Given the description of an element on the screen output the (x, y) to click on. 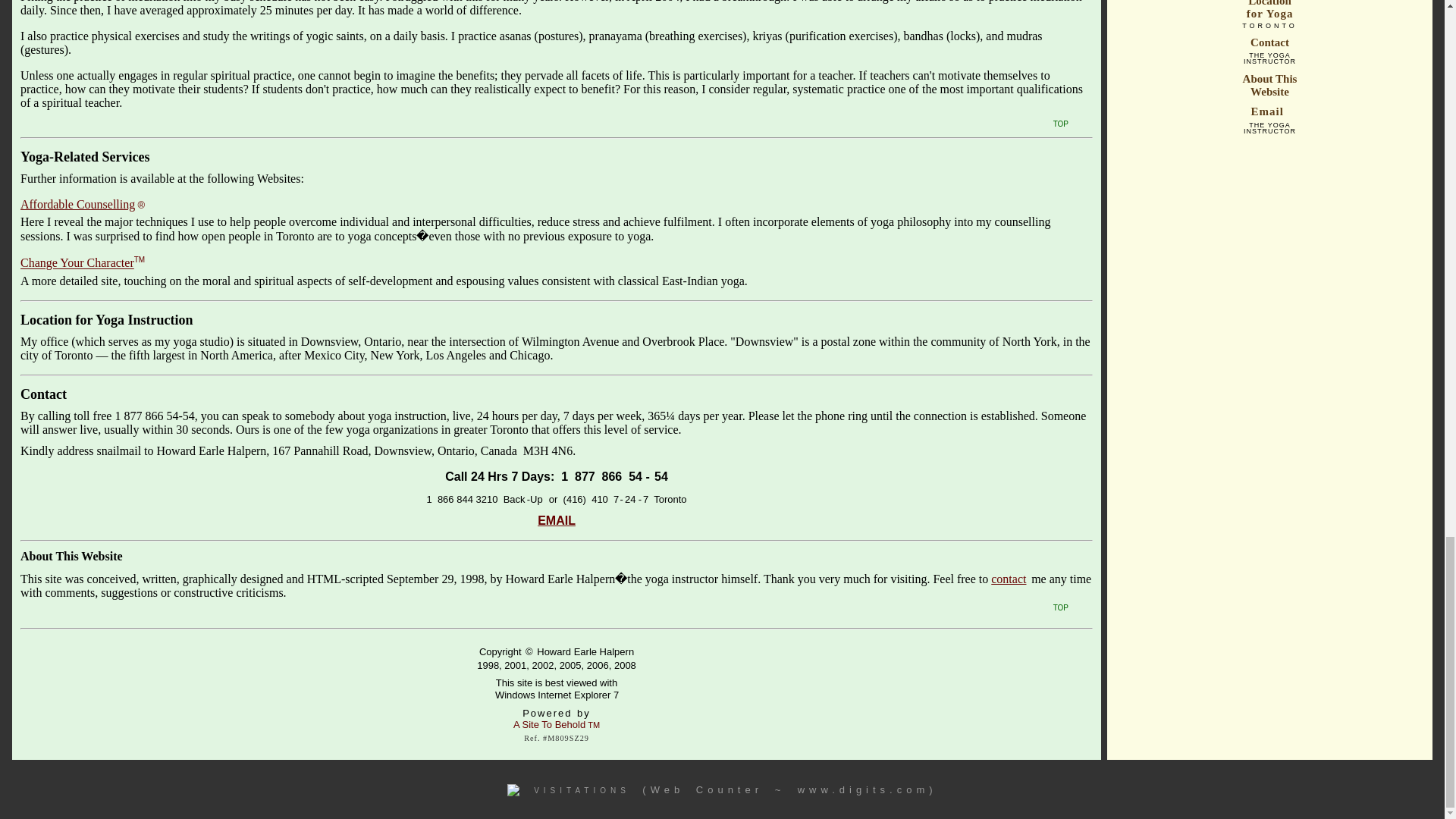
Location for Yoga Instruction (106, 319)
Contact (43, 394)
Change Your Character (76, 263)
Affordable Counselling (77, 204)
TOP (1060, 122)
